Given the description of an element on the screen output the (x, y) to click on. 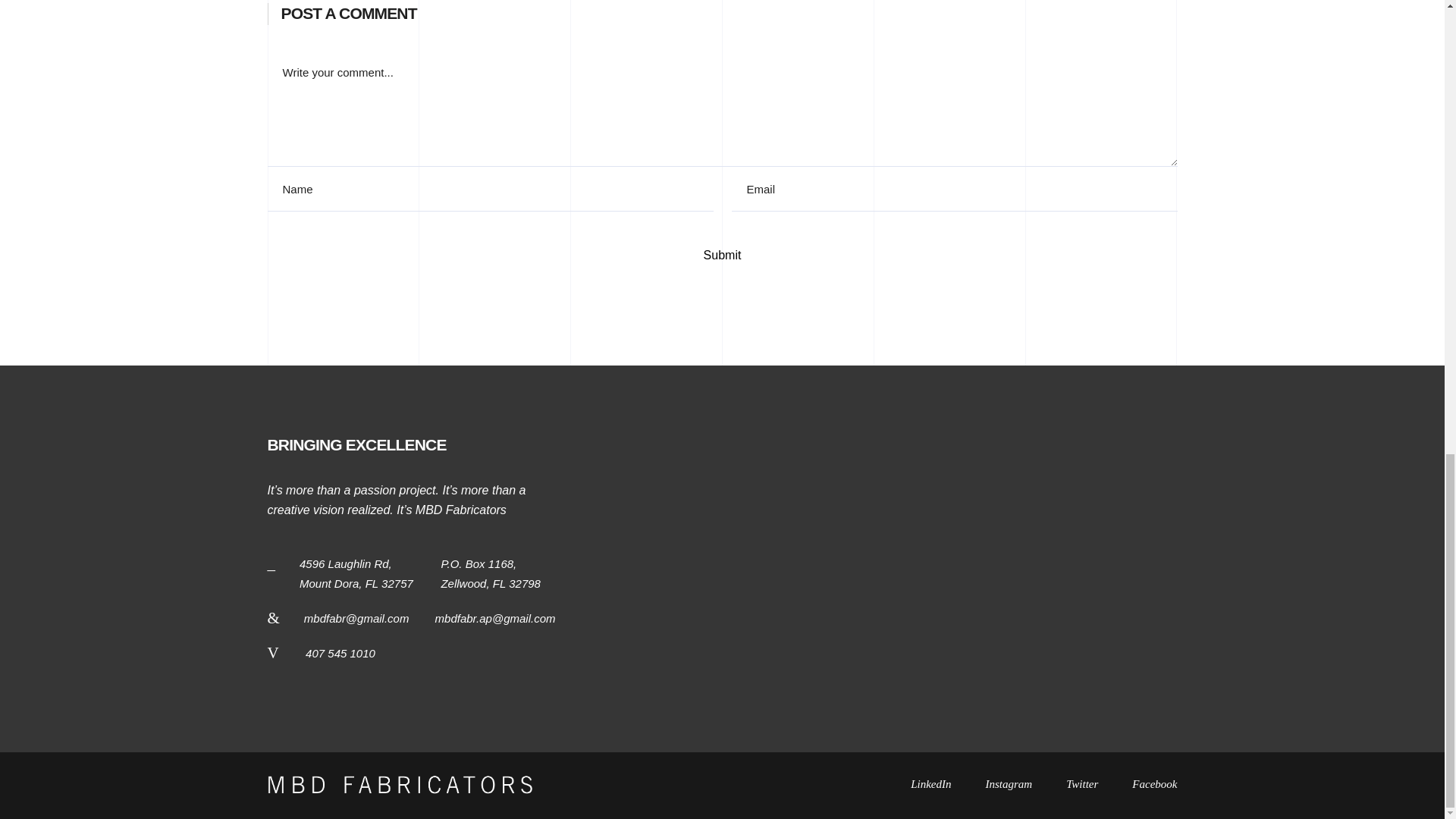
Submit (721, 255)
407 545 1010 (340, 653)
Submit (721, 255)
LinkedIn (948, 783)
